Given the description of an element on the screen output the (x, y) to click on. 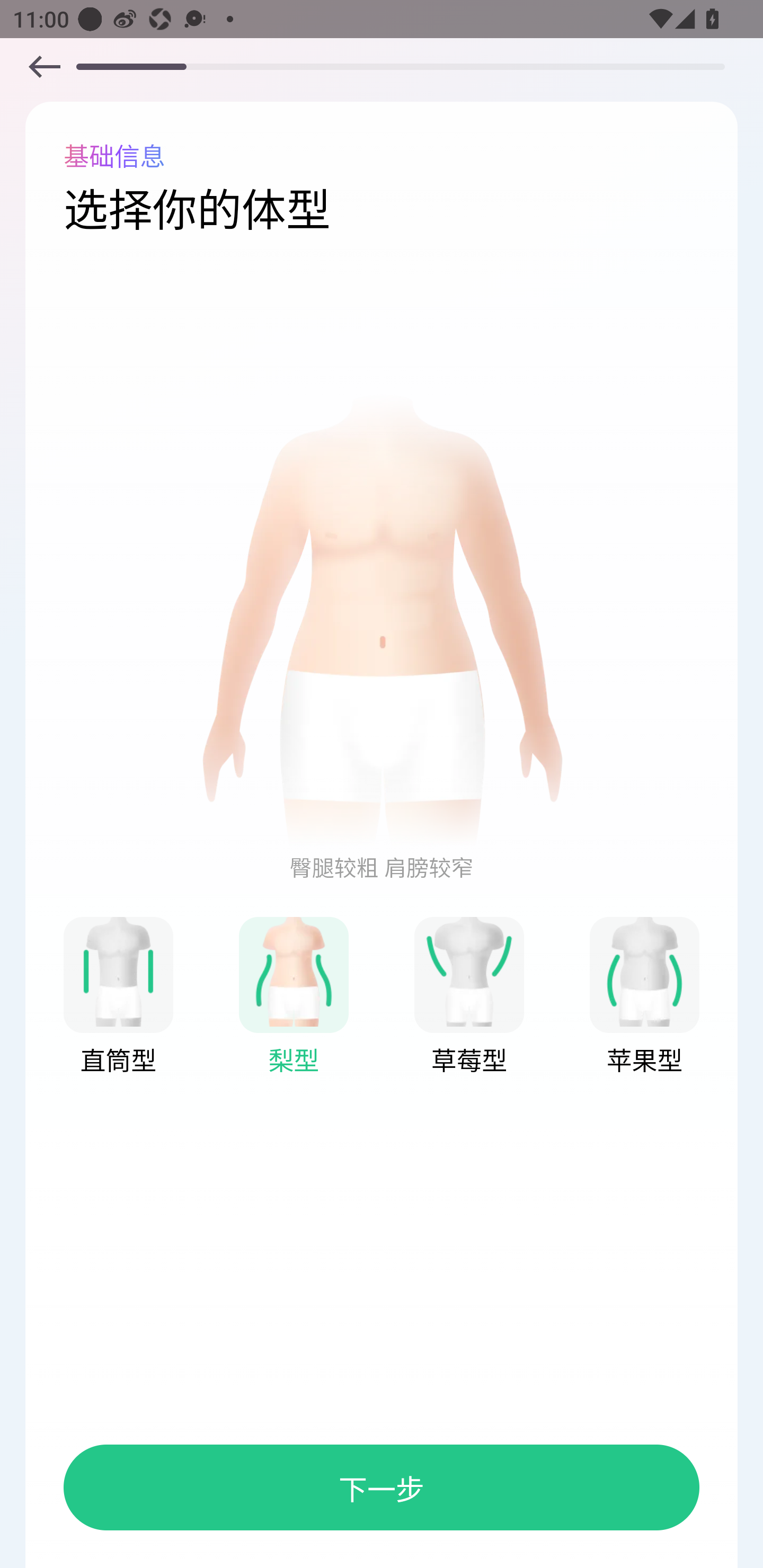
1 (44, 66)
1 (381, 618)
1   1 直筒型 (118, 996)
1 (118, 971)
1   1 梨型 (293, 996)
1 (293, 971)
1   1 草莓型 (468, 996)
1 (468, 971)
1   1 苹果型 (644, 996)
1 (644, 971)
下一步 (381, 1487)
